Given the description of an element on the screen output the (x, y) to click on. 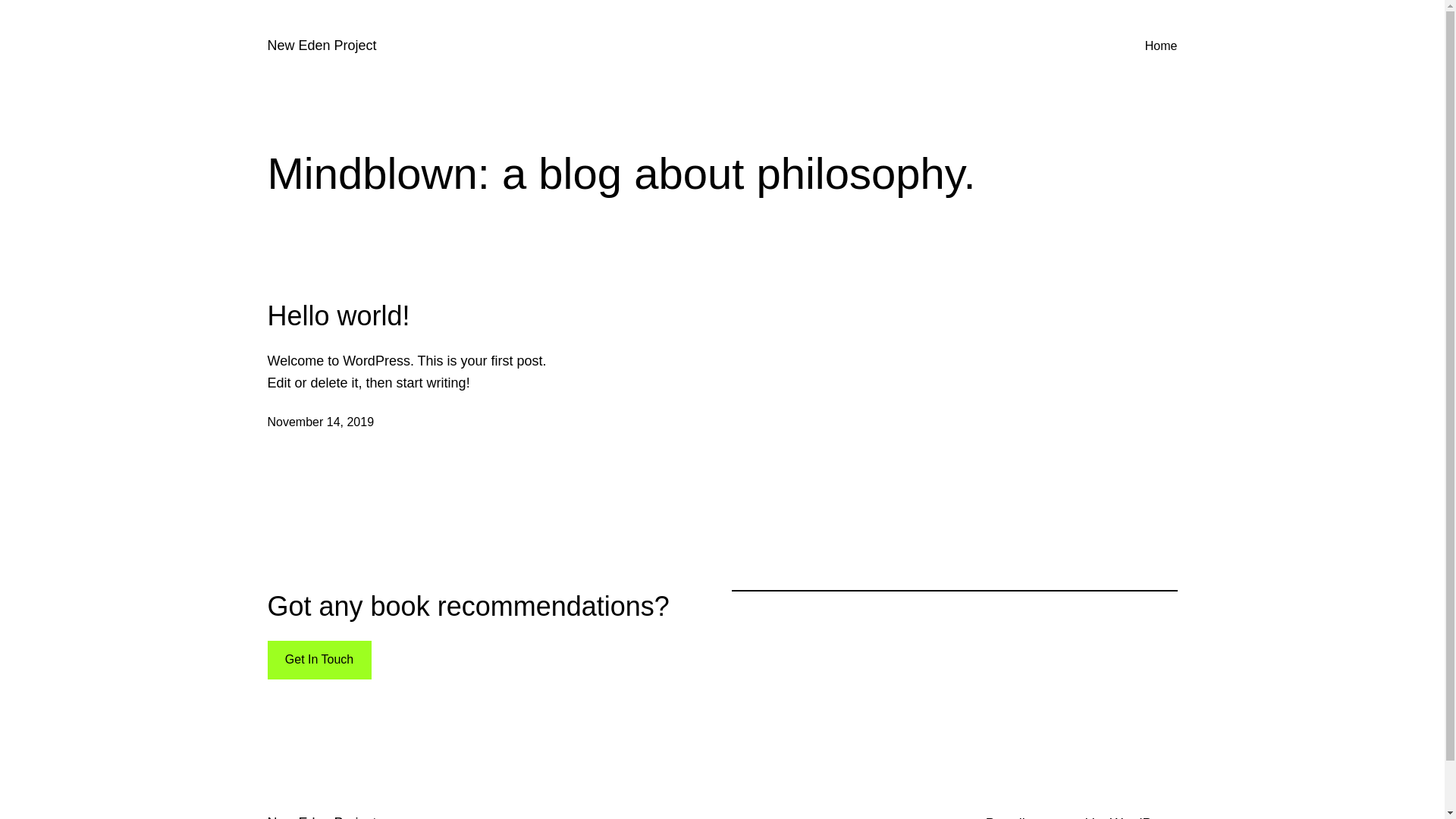
Hello world! Element type: text (337, 315)
Home Element type: text (1161, 46)
New Eden Project Element type: text (321, 45)
November 14, 2019 Element type: text (319, 421)
Get In Touch Element type: text (318, 659)
